Given the description of an element on the screen output the (x, y) to click on. 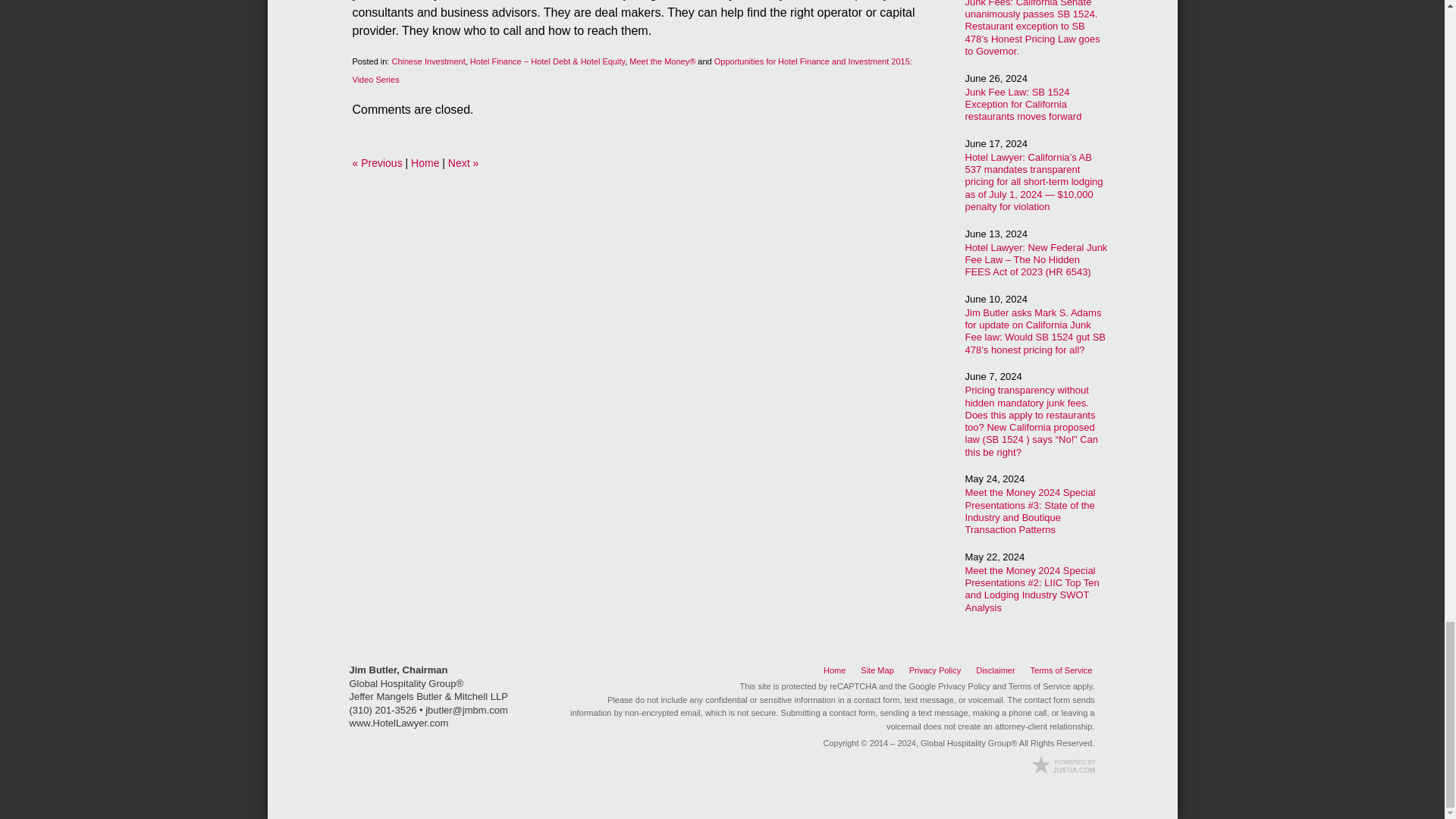
Home (424, 162)
View all posts in Chinese Investment (427, 61)
Chinese Investment (427, 61)
